Given the description of an element on the screen output the (x, y) to click on. 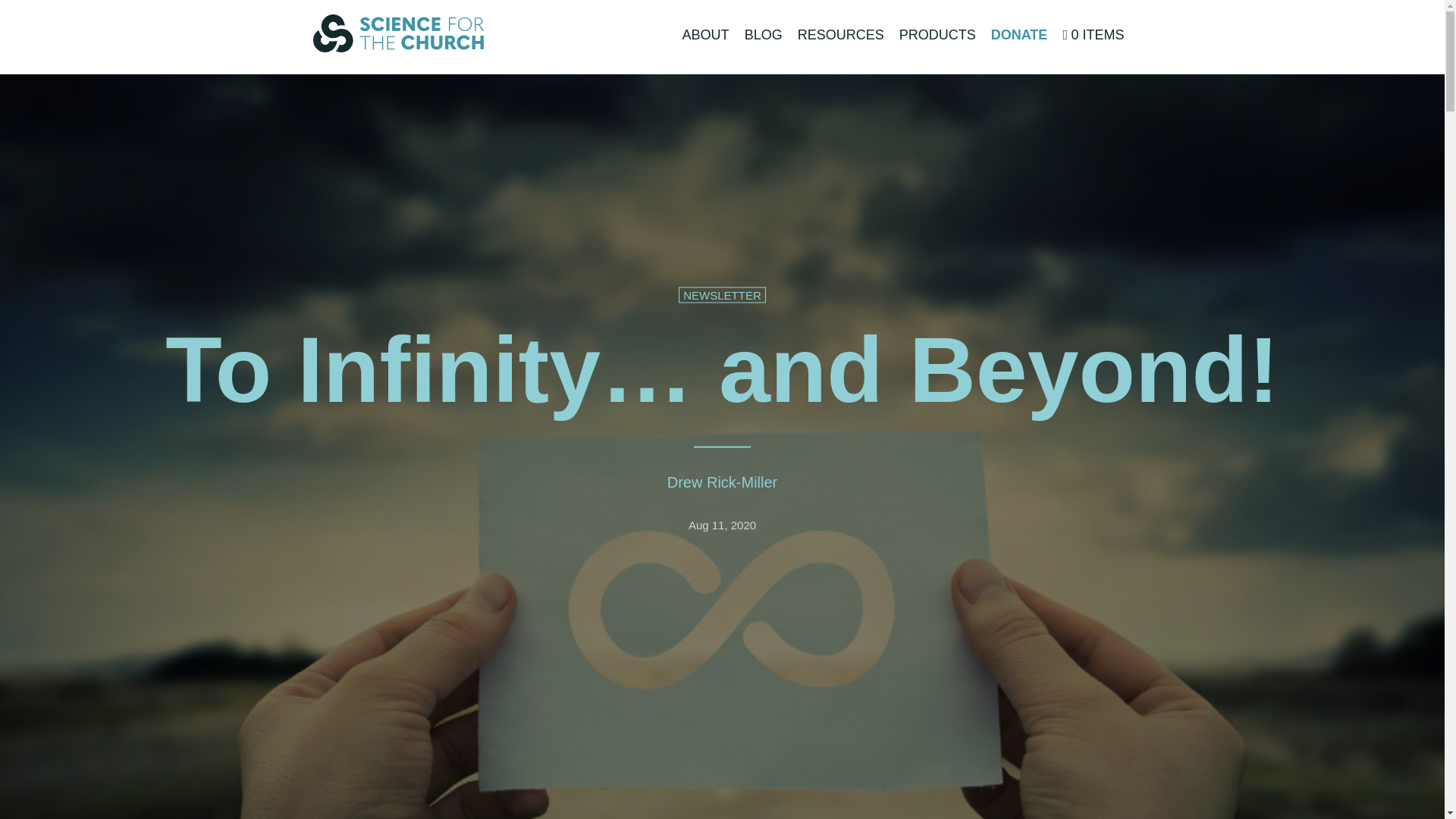
BLOG (763, 35)
Drew Rick-Miller (721, 481)
DONATE (1019, 35)
0 ITEMS (1092, 35)
Start shopping (1092, 35)
PRODUCTS (937, 35)
NEWSLETTER (721, 293)
RESOURCES (840, 35)
ABOUT (705, 35)
